Given the description of an element on the screen output the (x, y) to click on. 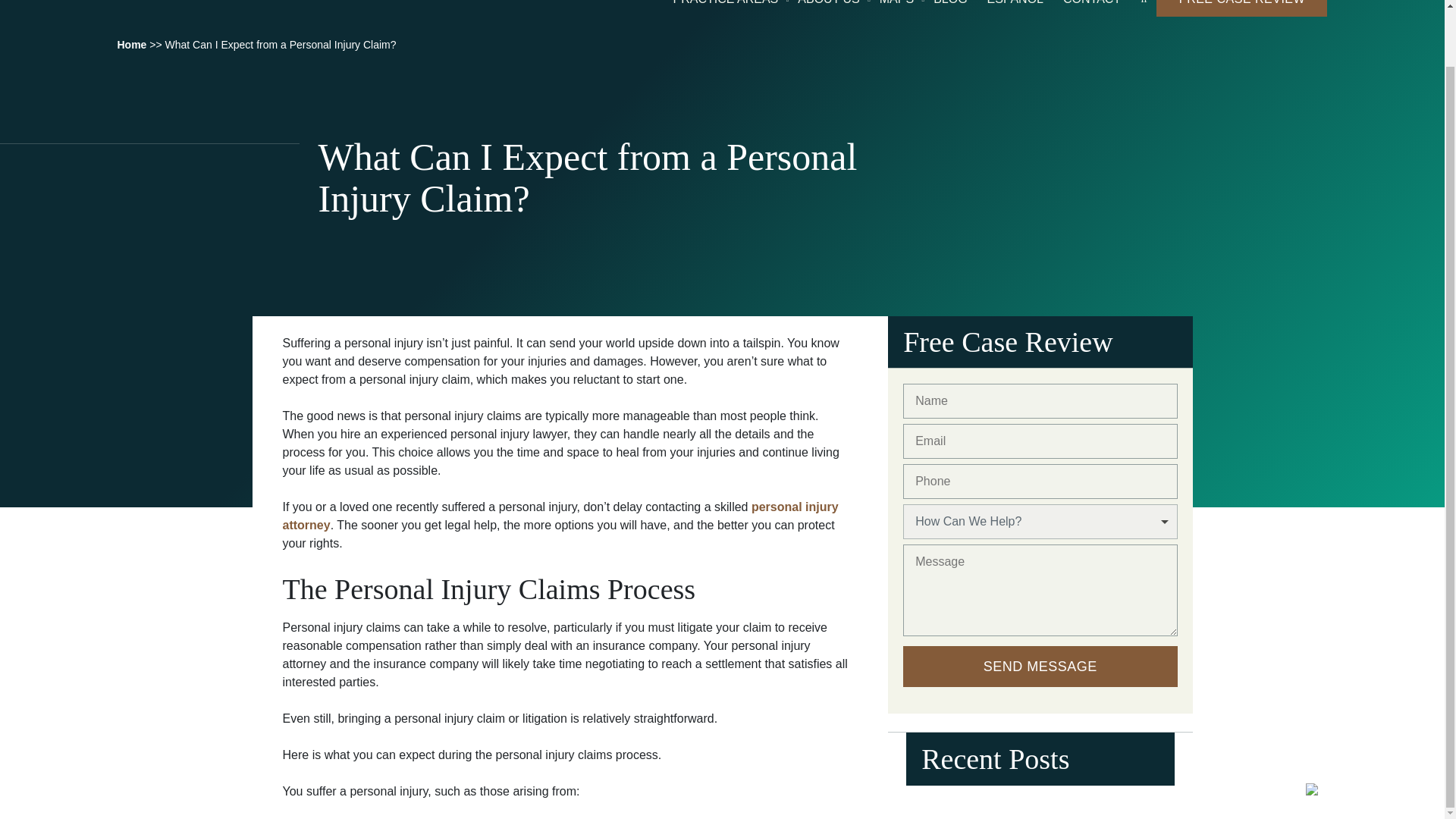
ABOUT US (828, 4)
PRACTICE AREAS (725, 4)
Practice Areas (725, 4)
MAPS (896, 4)
